Given the description of an element on the screen output the (x, y) to click on. 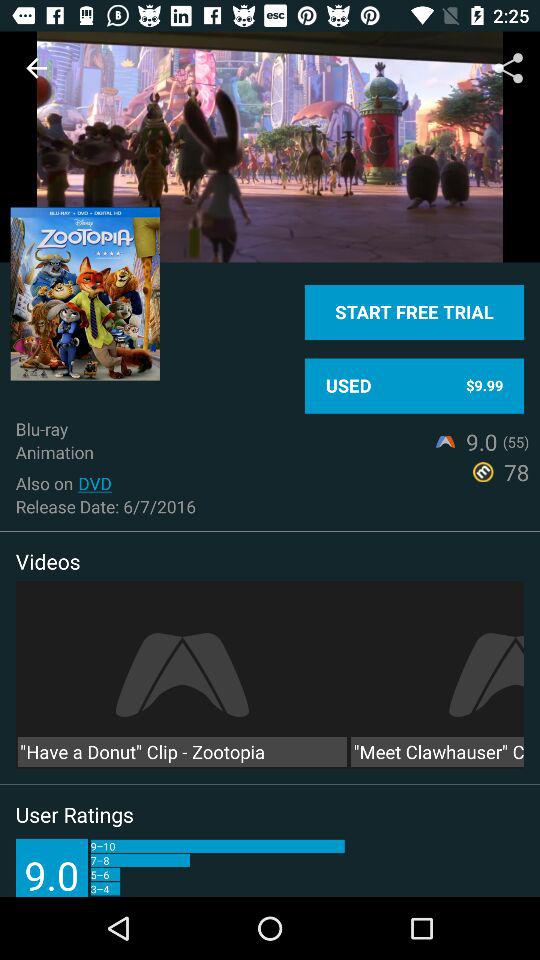
turn on item below animation (94, 483)
